Given the description of an element on the screen output the (x, y) to click on. 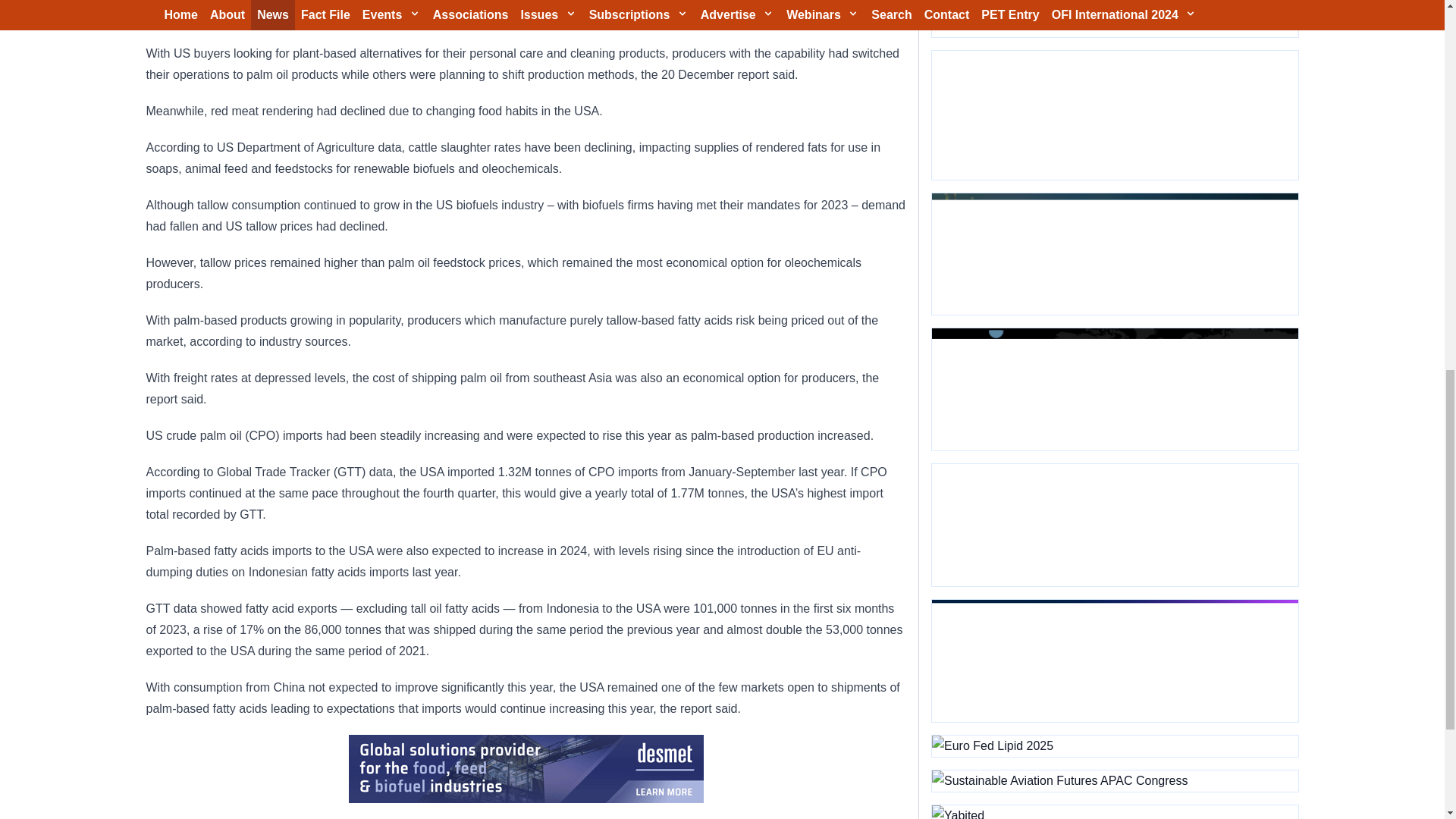
OFI International 2024 (1114, 18)
ICIS Pan American Oleochemicals Conference (1114, 660)
3rd Sustainable Vegetable Oil Conference (1114, 114)
Euro Fed Lipid 2025 (1114, 745)
Sustainable Aviation Futures APAC Congress (1114, 780)
Desmet 2022-4 footer banner (525, 768)
Globoil 2024 (1114, 254)
2nd Berlin Symposium 2024 (1114, 525)
Yabited (1114, 812)
Sustainable Aviation Futures North America Congress (1114, 389)
